Given the description of an element on the screen output the (x, y) to click on. 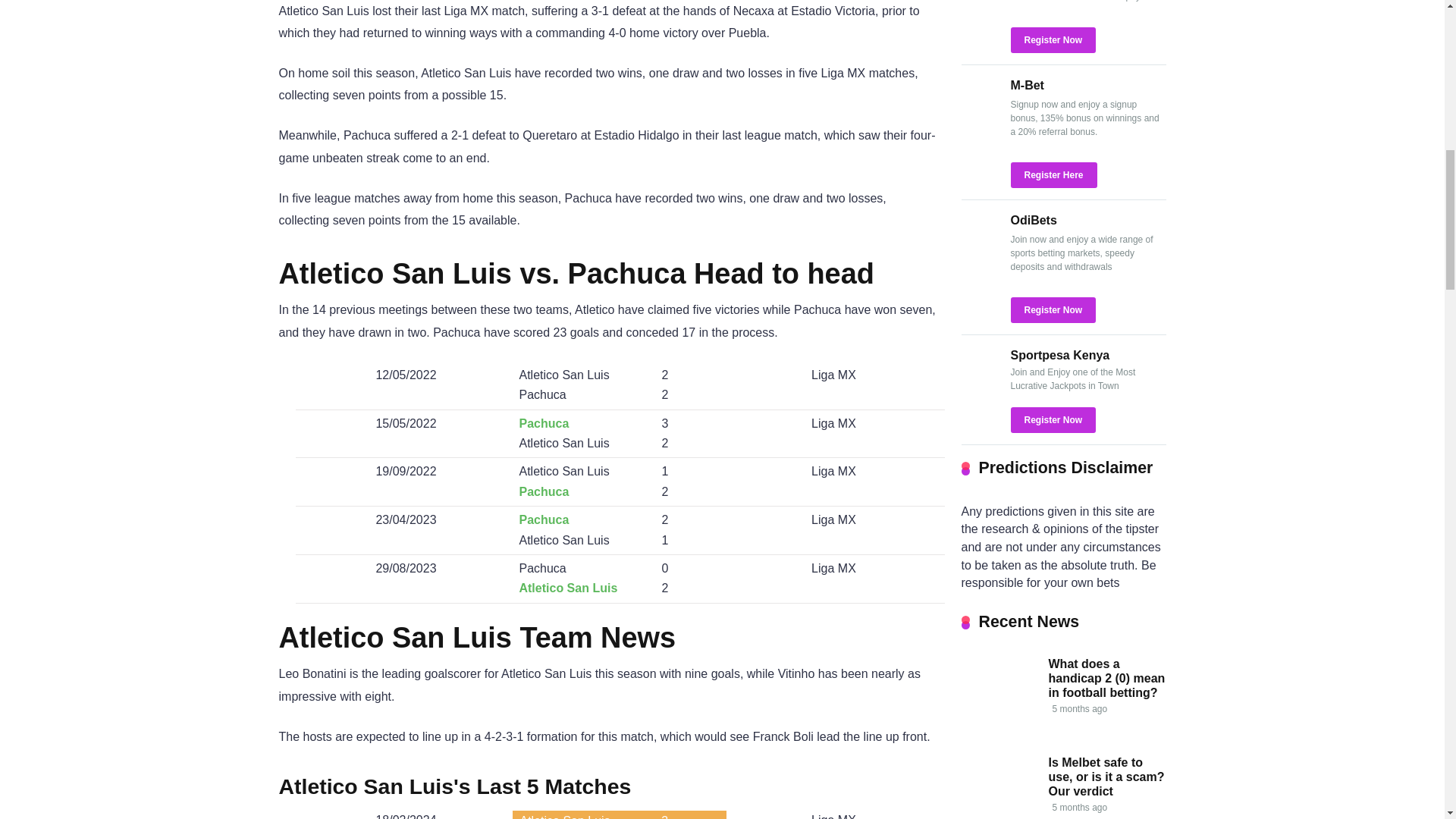
M-Bet (1026, 84)
OdiBets (979, 248)
M-Bet (1026, 84)
Register Now (1053, 40)
Register Now (1053, 40)
Register Here (1053, 175)
OdiBets (1033, 219)
Register Now (1053, 309)
M-Bet (979, 113)
